Given the description of an element on the screen output the (x, y) to click on. 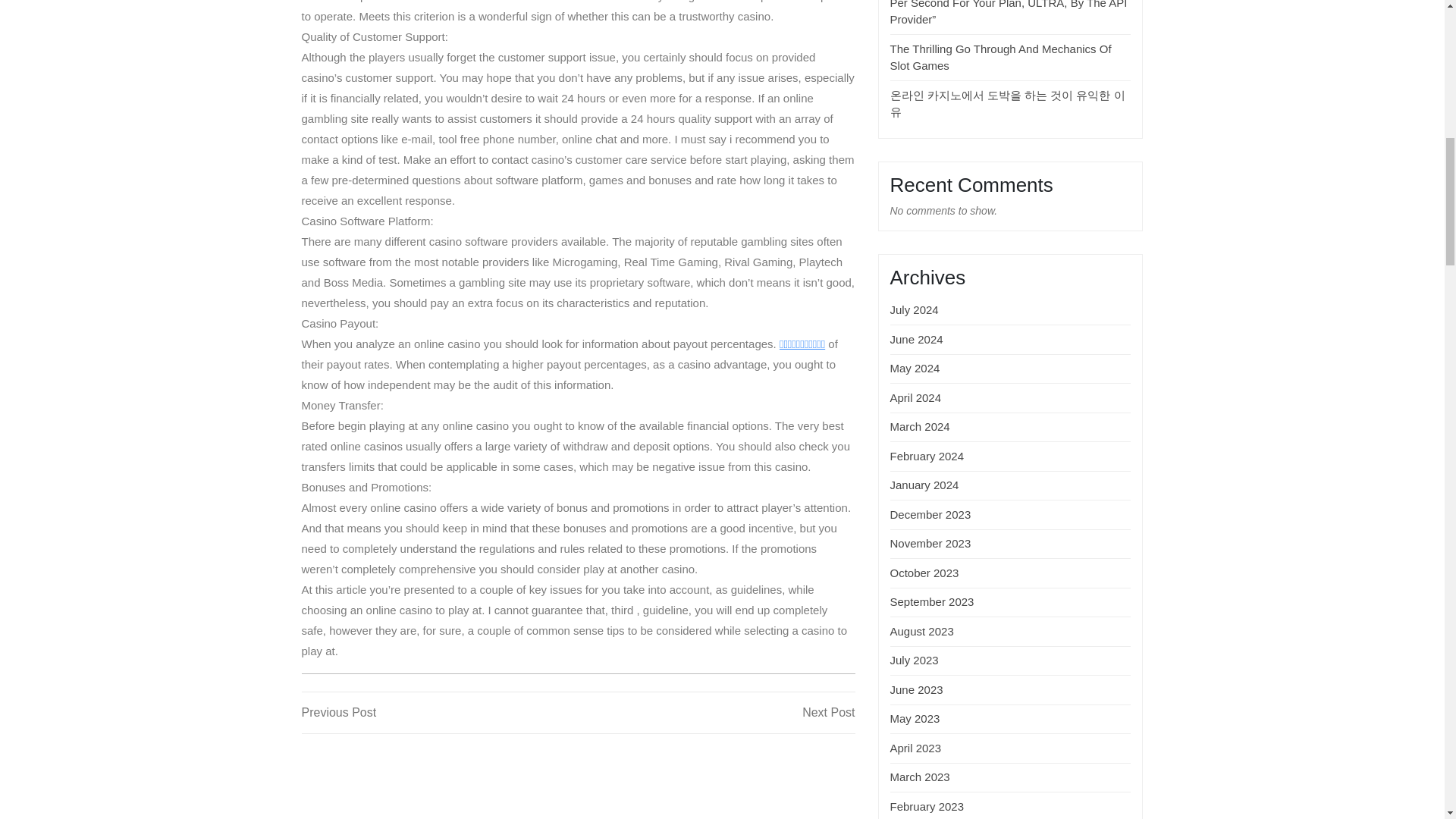
February 2024 (926, 455)
July 2024 (914, 309)
January 2024 (924, 484)
April 2024 (439, 712)
The Thrilling Go Through And Mechanics Of Slot Games (915, 397)
October 2023 (1000, 57)
June 2024 (924, 572)
September 2023 (916, 338)
March 2024 (931, 601)
December 2023 (919, 426)
November 2023 (930, 513)
May 2024 (716, 712)
